Given the description of an element on the screen output the (x, y) to click on. 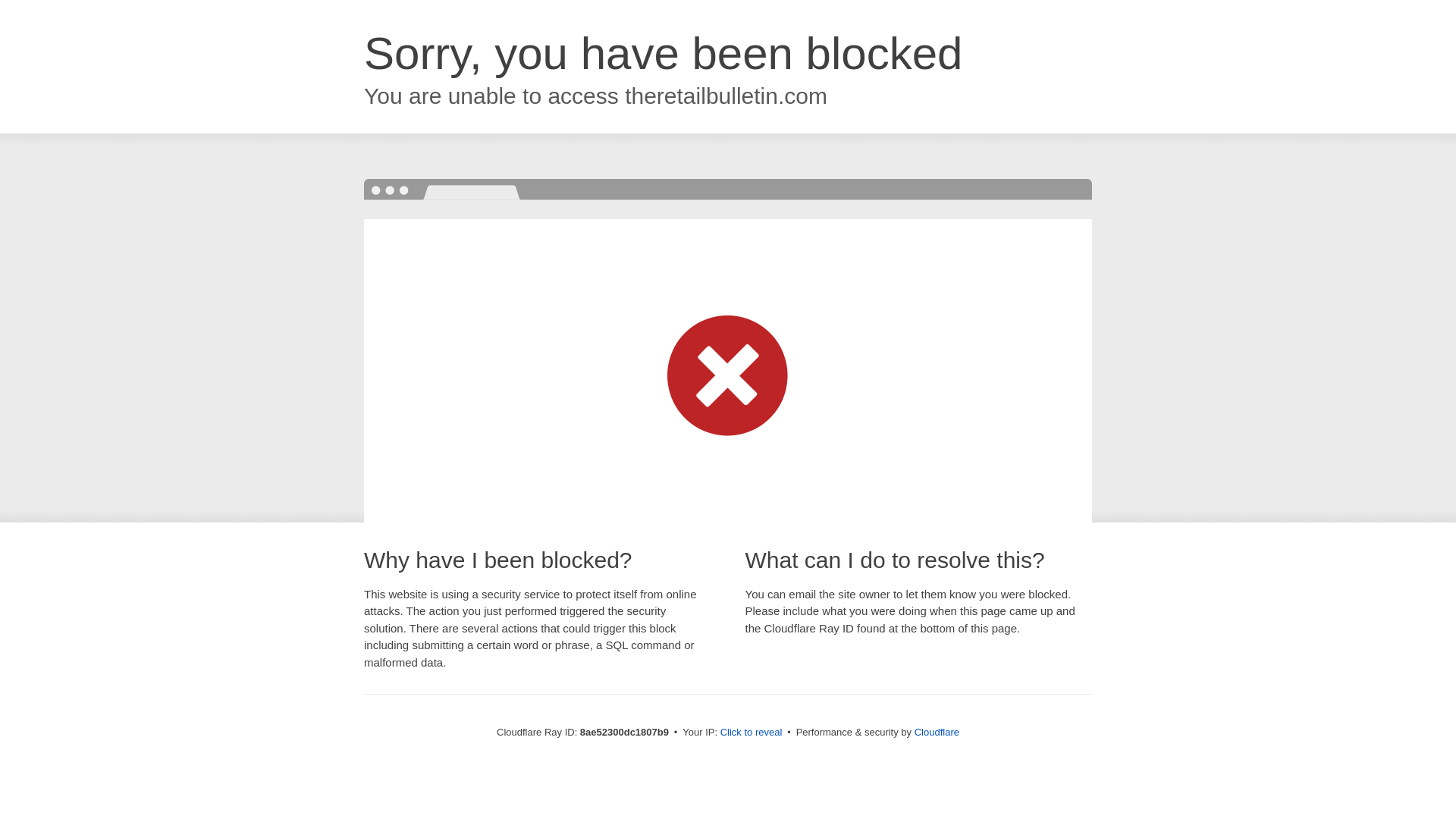
Cloudflare (936, 731)
Click to reveal (751, 732)
